Given the description of an element on the screen output the (x, y) to click on. 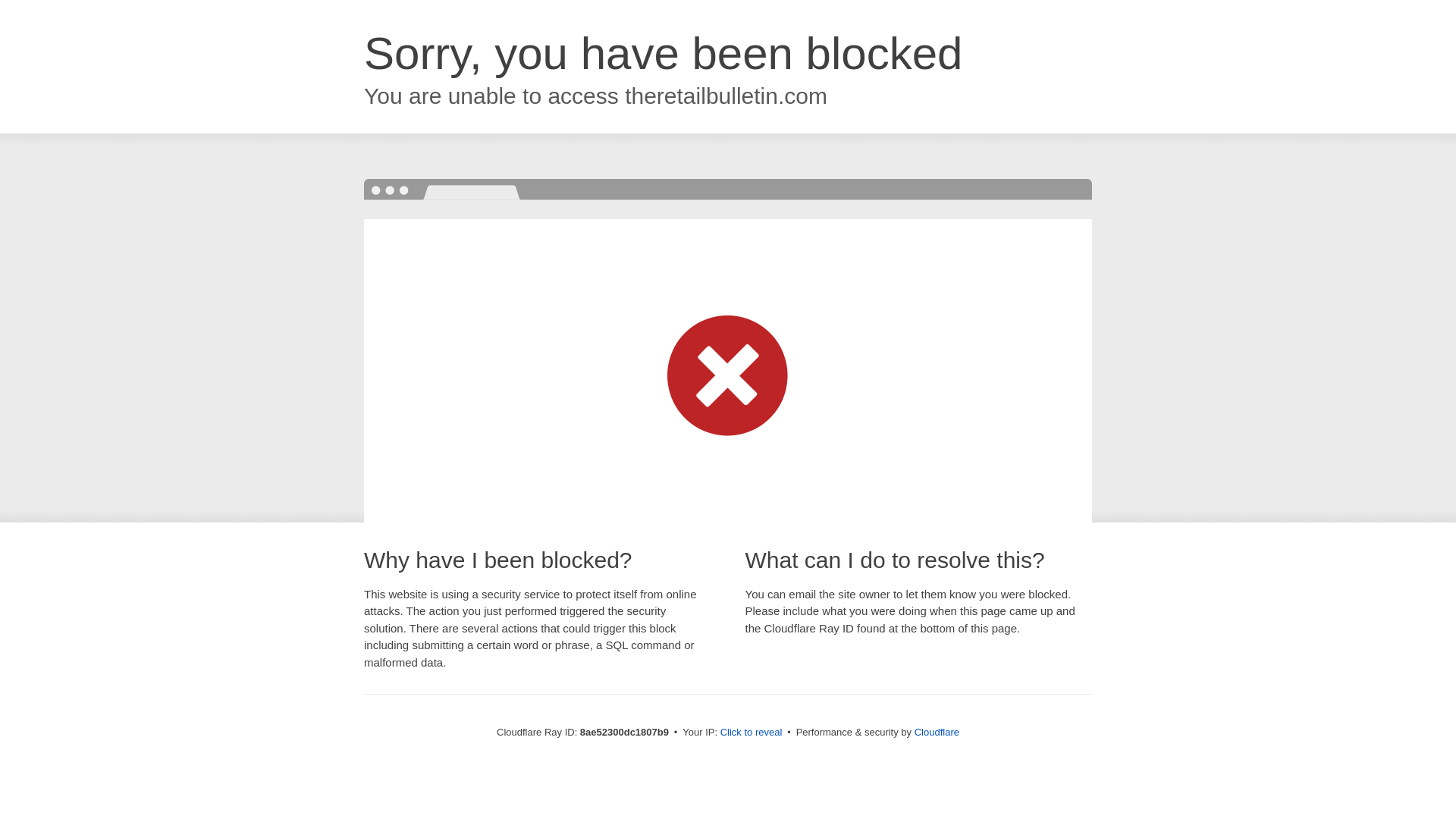
Cloudflare (936, 731)
Click to reveal (751, 732)
